Given the description of an element on the screen output the (x, y) to click on. 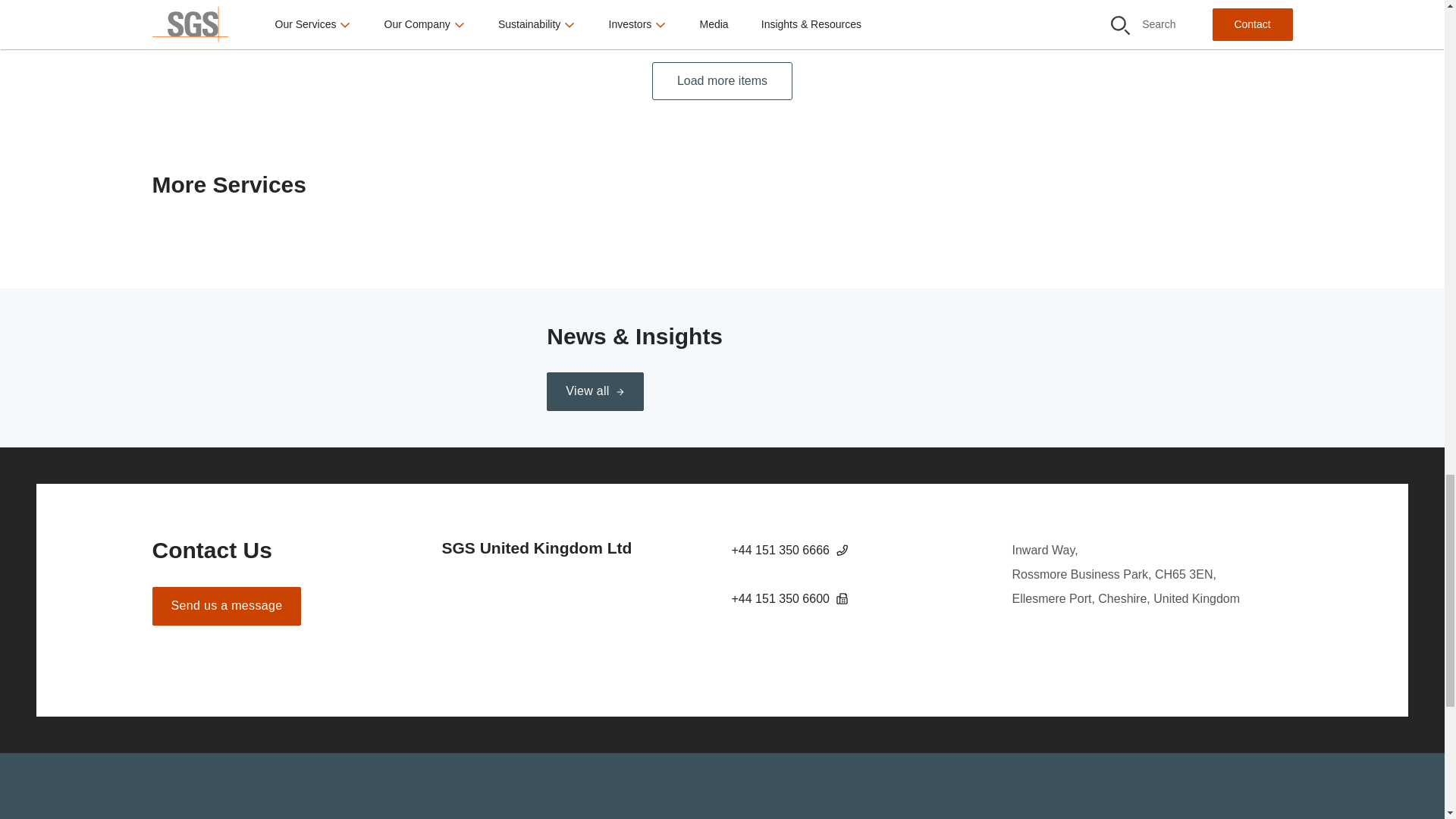
Load more items (722, 81)
Send us a message (226, 606)
View all (595, 391)
